Given the description of an element on the screen output the (x, y) to click on. 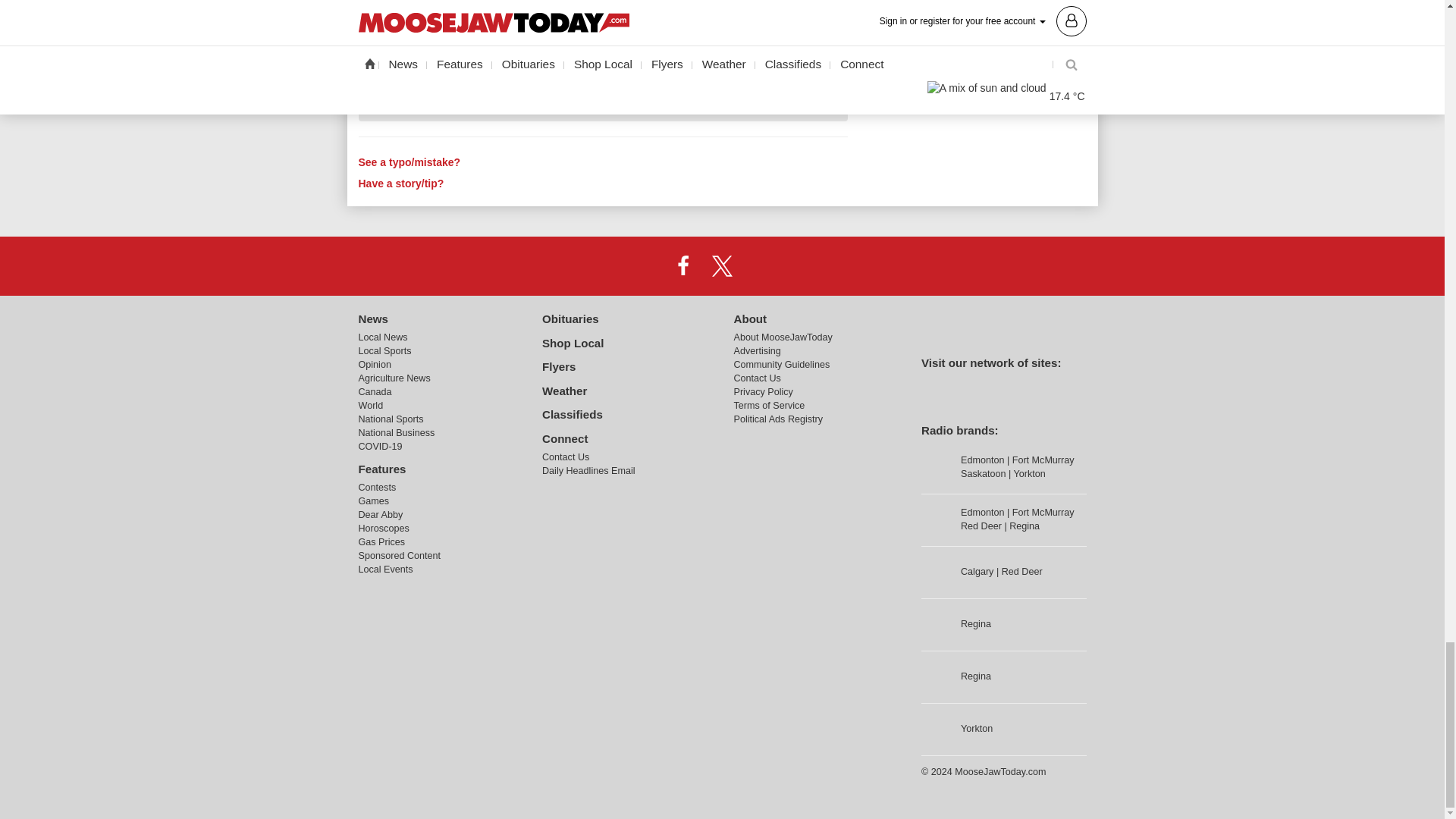
Facebook (683, 265)
X (721, 265)
Instagram (760, 265)
